Given the description of an element on the screen output the (x, y) to click on. 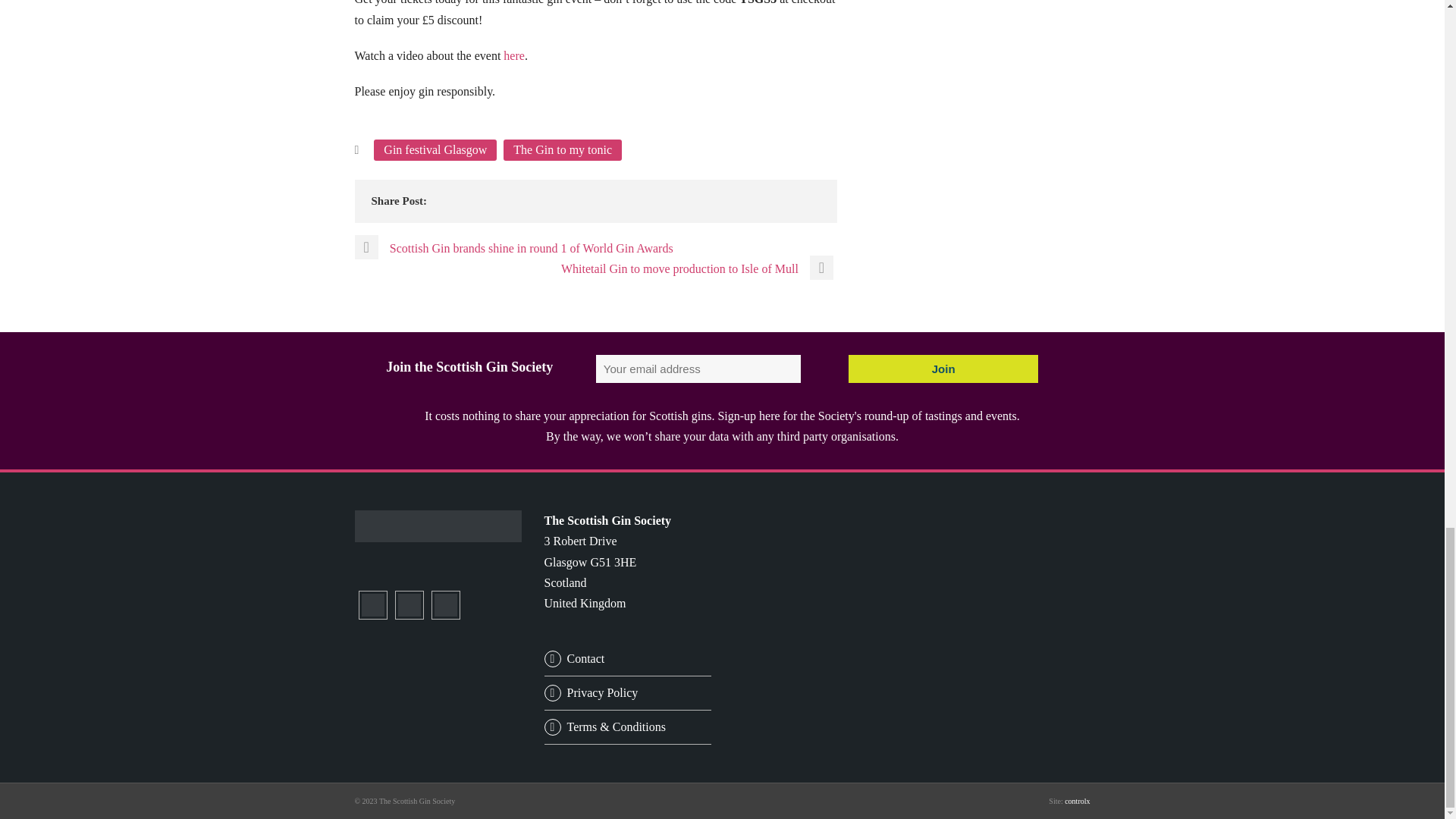
Scottish Gin brands shine in round 1 of World Gin Awards (513, 247)
here (513, 55)
Join (943, 368)
Gin festival Glasgow (435, 149)
Whitetail Gin to move production to Isle of Mull (698, 268)
The Gin to my tonic (562, 149)
